Given the description of an element on the screen output the (x, y) to click on. 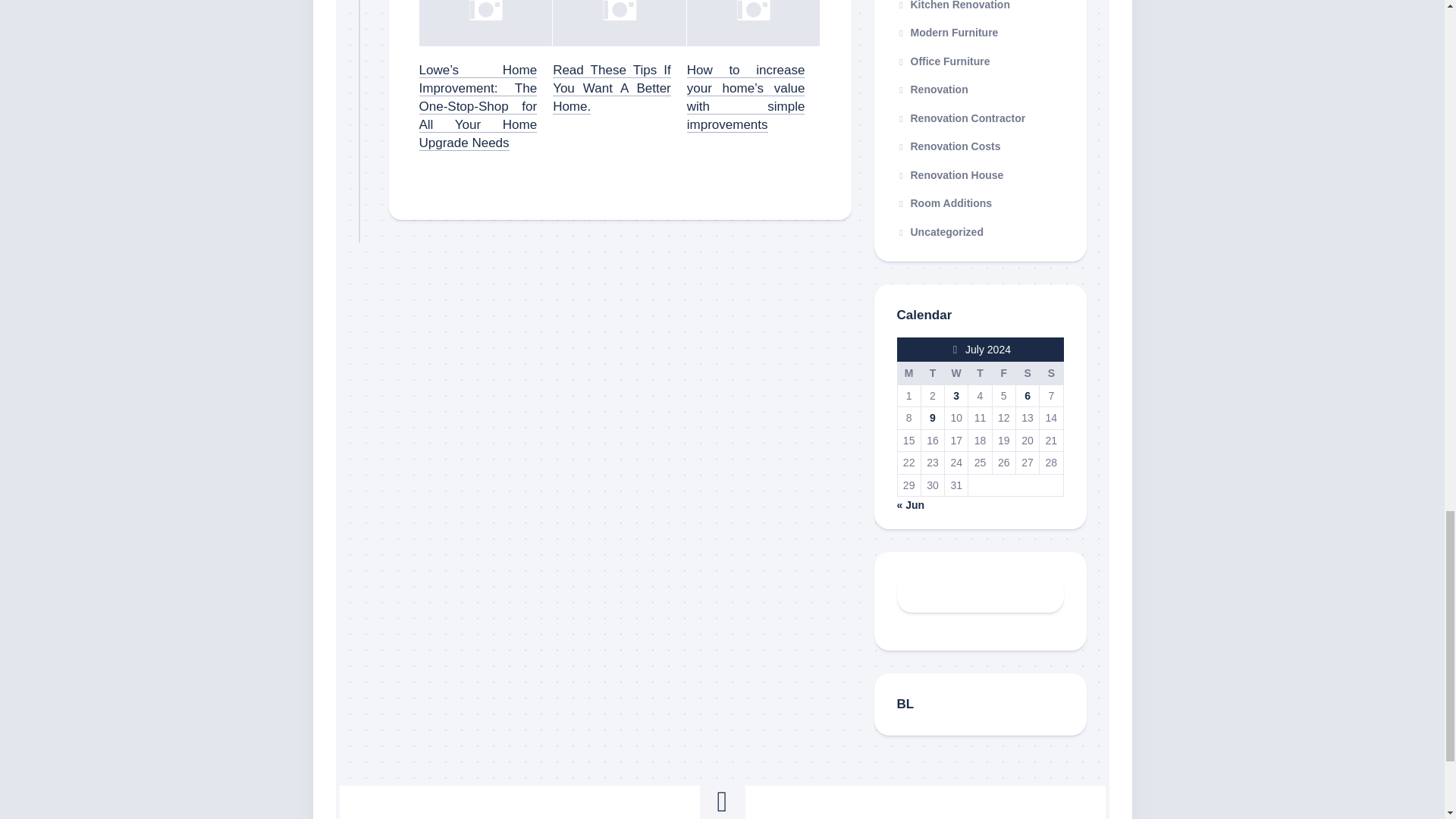
Monday (908, 373)
Friday (1002, 373)
Sunday (1050, 373)
Thursday (979, 373)
Wednesday (956, 373)
Saturday (1026, 373)
Tuesday (931, 373)
